Given the description of an element on the screen output the (x, y) to click on. 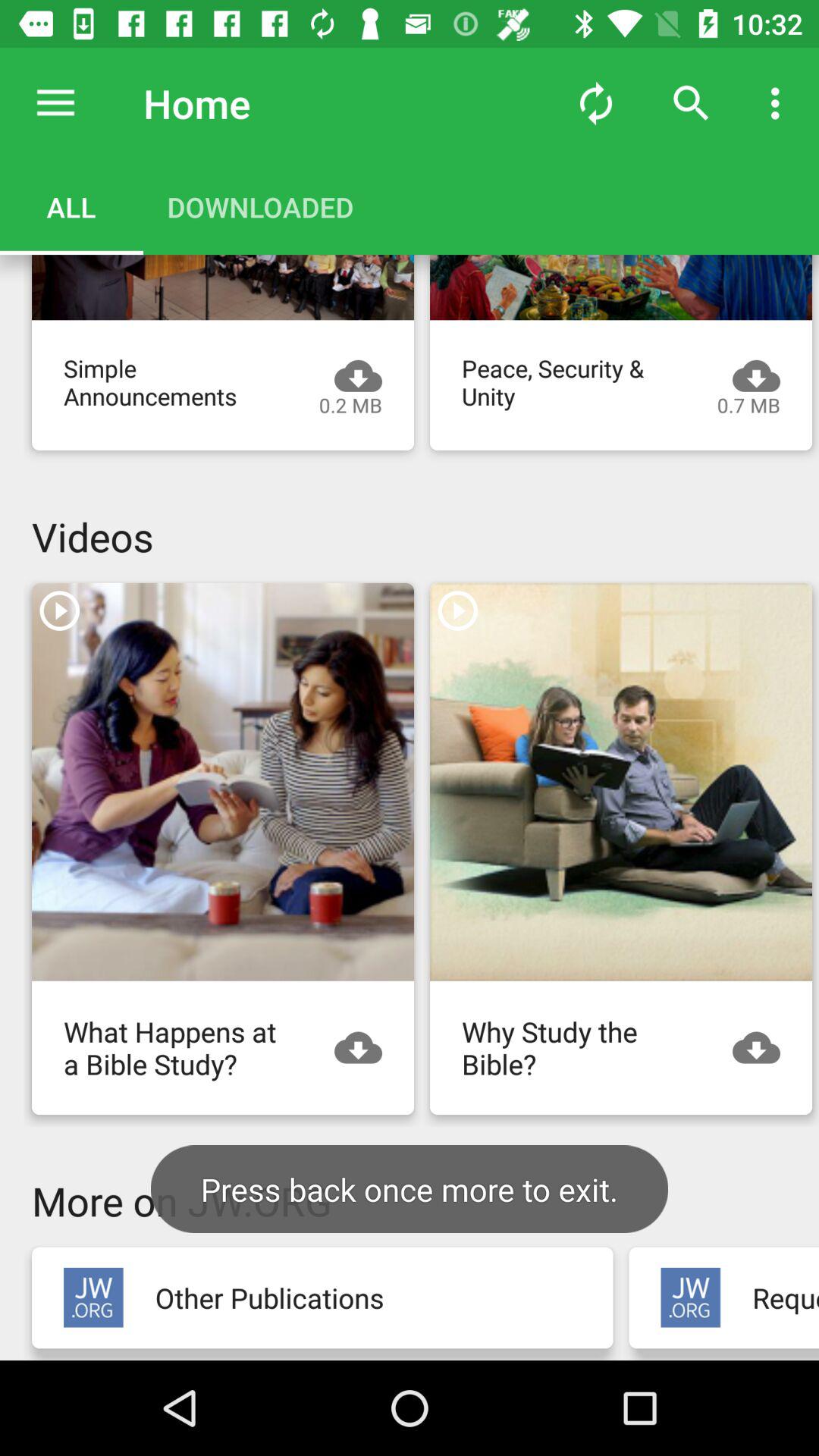
settings (55, 103)
